Given the description of an element on the screen output the (x, y) to click on. 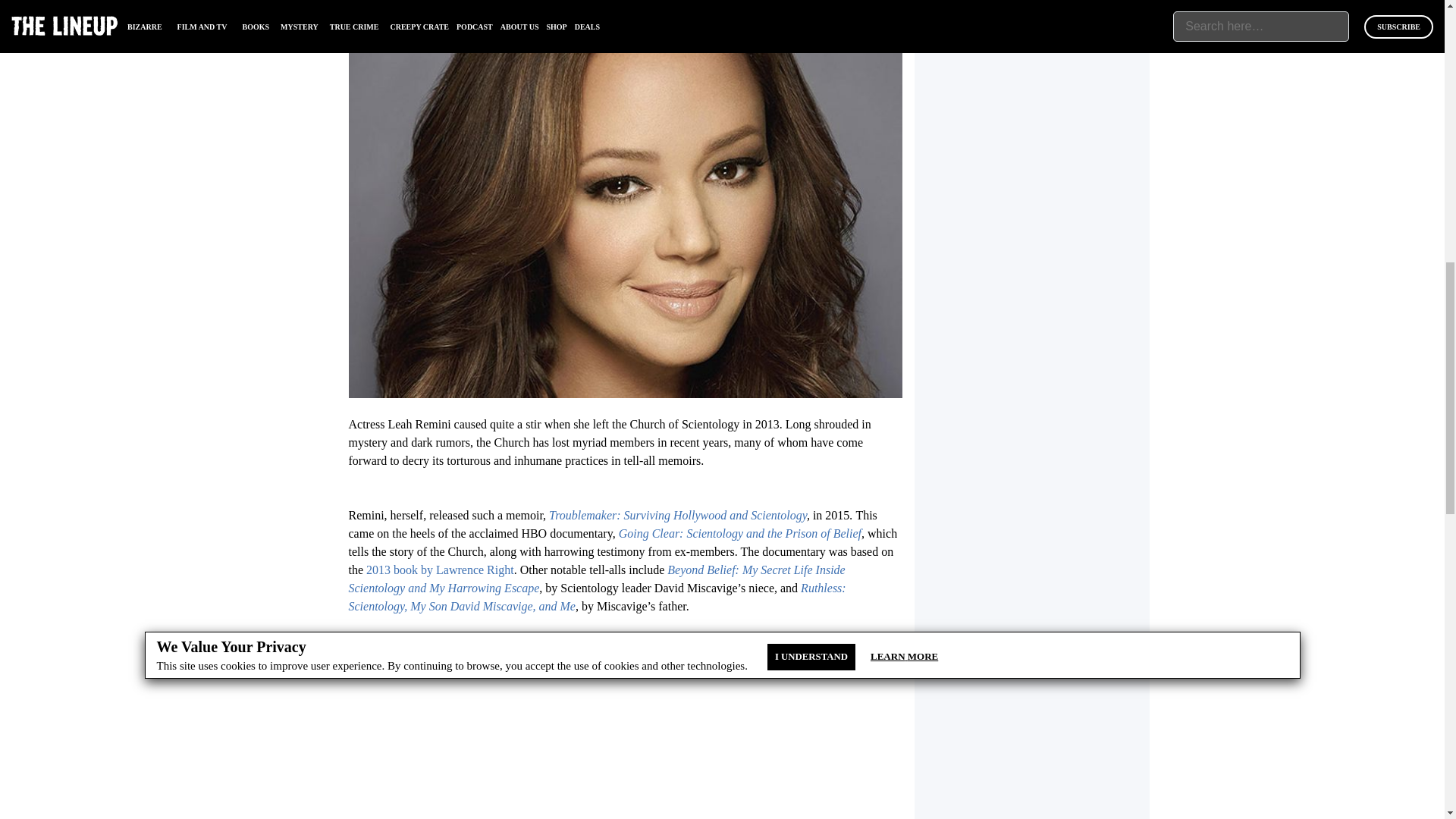
Ruthless: Scientology, My Son David Miscavige, and Me (597, 596)
2013 book by Lawrence Right (439, 569)
here (641, 654)
Troublemaker: Surviving Hollywood and Scientology (677, 514)
Going Clear: Scientology and the Prison of Belief (739, 533)
